Given the description of an element on the screen output the (x, y) to click on. 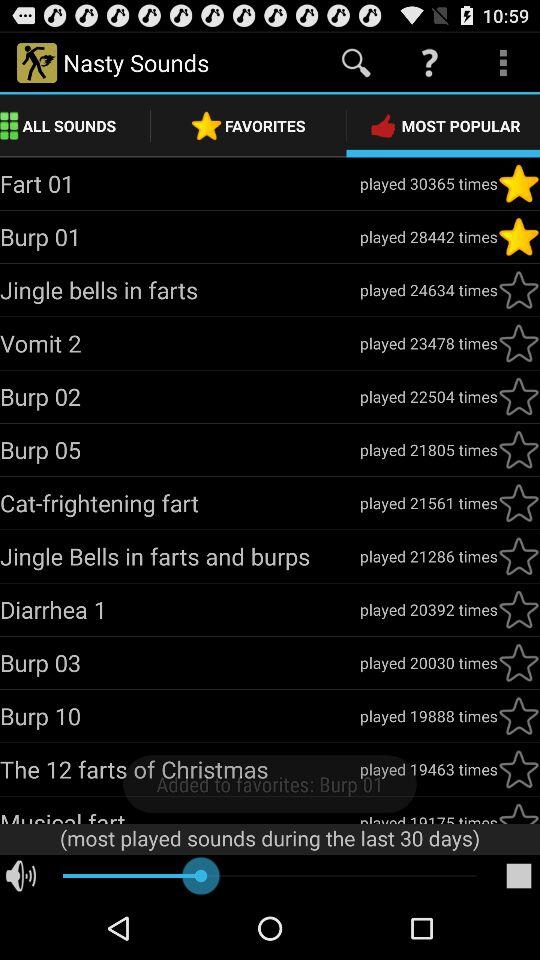
launch the icon below jingle bells in app (180, 609)
